Given the description of an element on the screen output the (x, y) to click on. 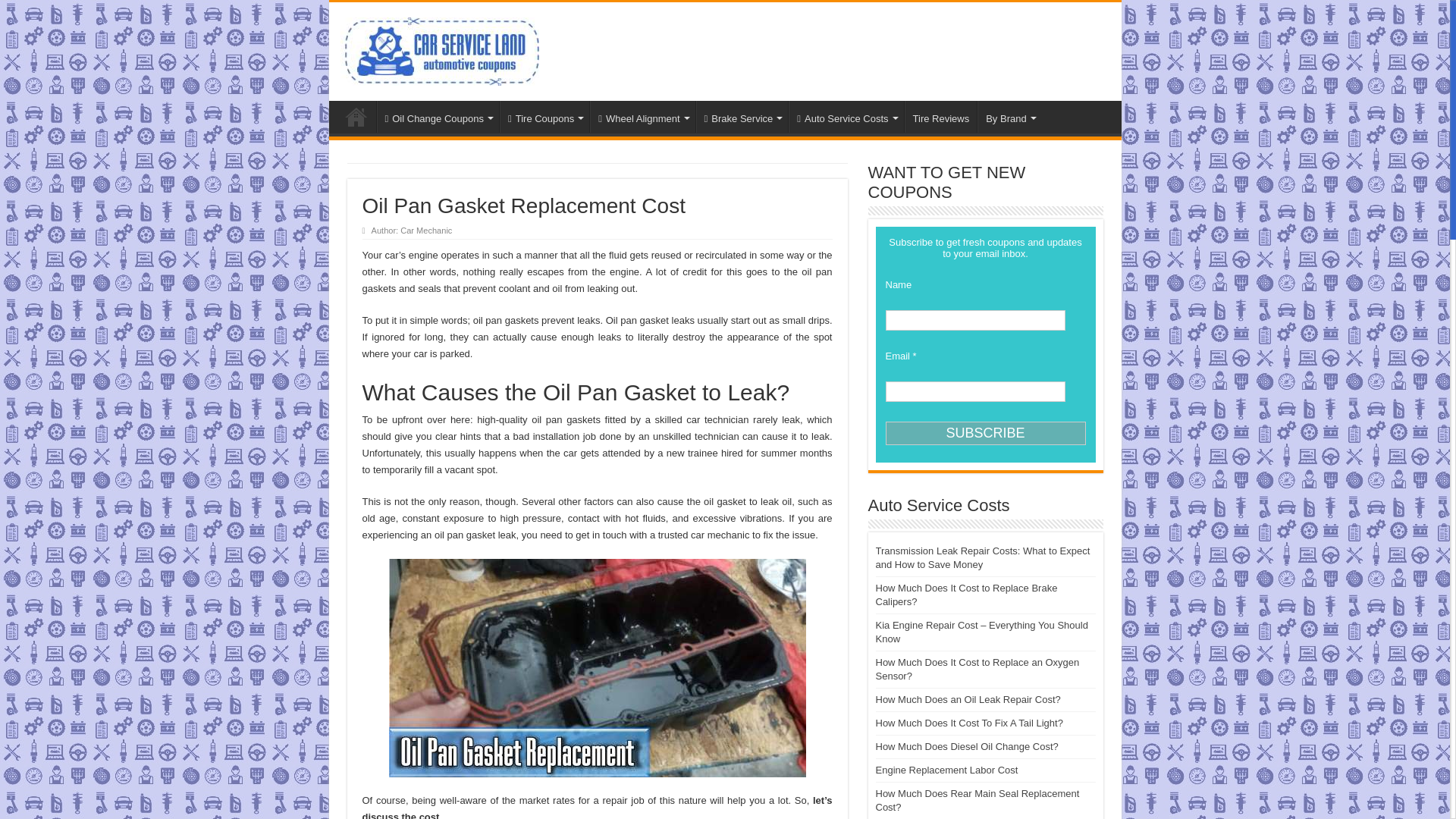
Brake Service (742, 116)
Subscribe (985, 433)
By Brand (1008, 116)
Oil Change Coupons (436, 116)
Wheel Alignment (641, 116)
Tire Coupons (544, 116)
Tire Reviews (940, 116)
Auto Service Costs (845, 116)
Car Service Land (438, 50)
Home (355, 116)
